Given the description of an element on the screen output the (x, y) to click on. 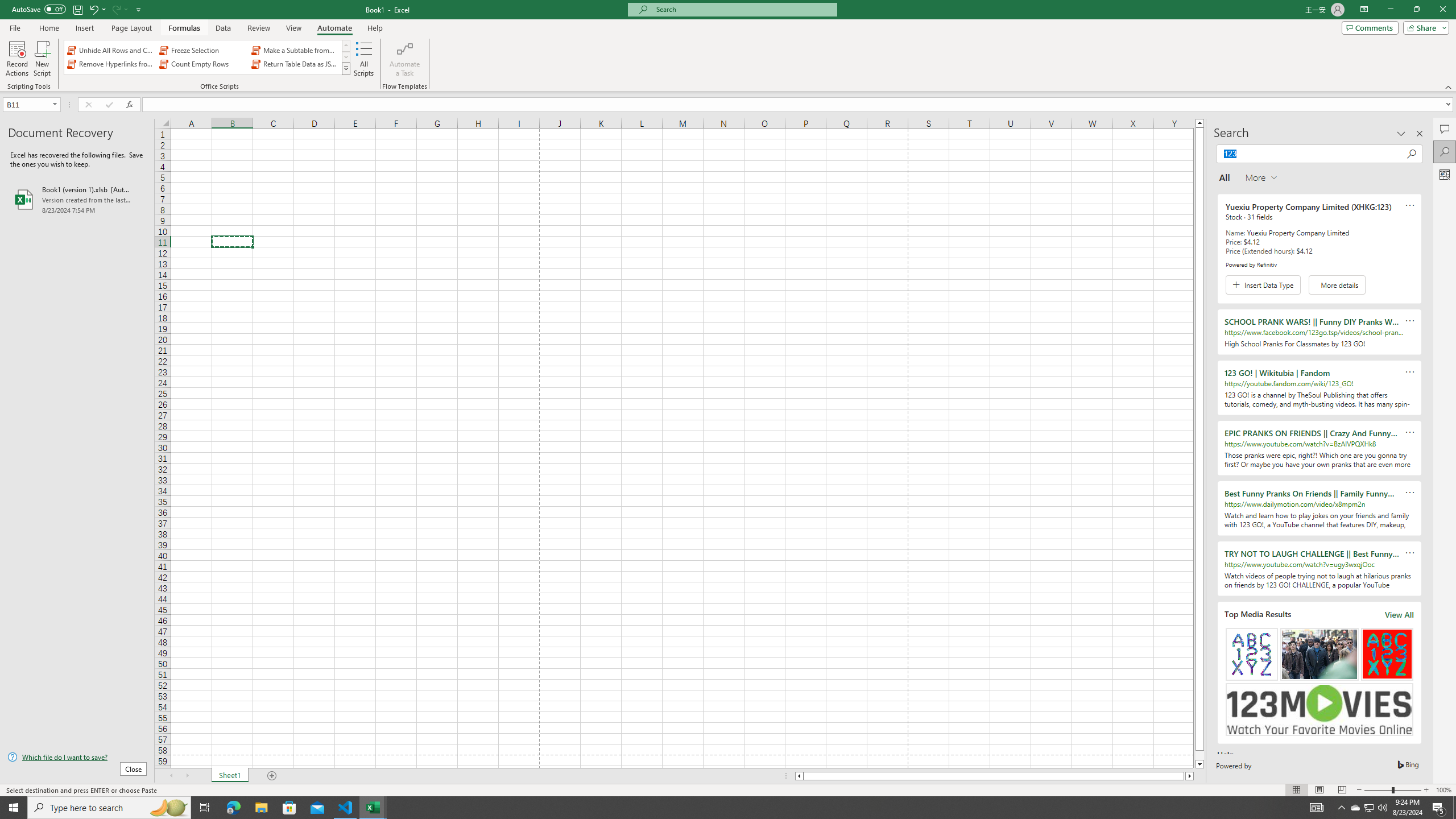
Freeze Selection (202, 50)
All Scripts (363, 58)
Count Empty Rows (202, 64)
Return Table Data as JSON (294, 64)
